Given the description of an element on the screen output the (x, y) to click on. 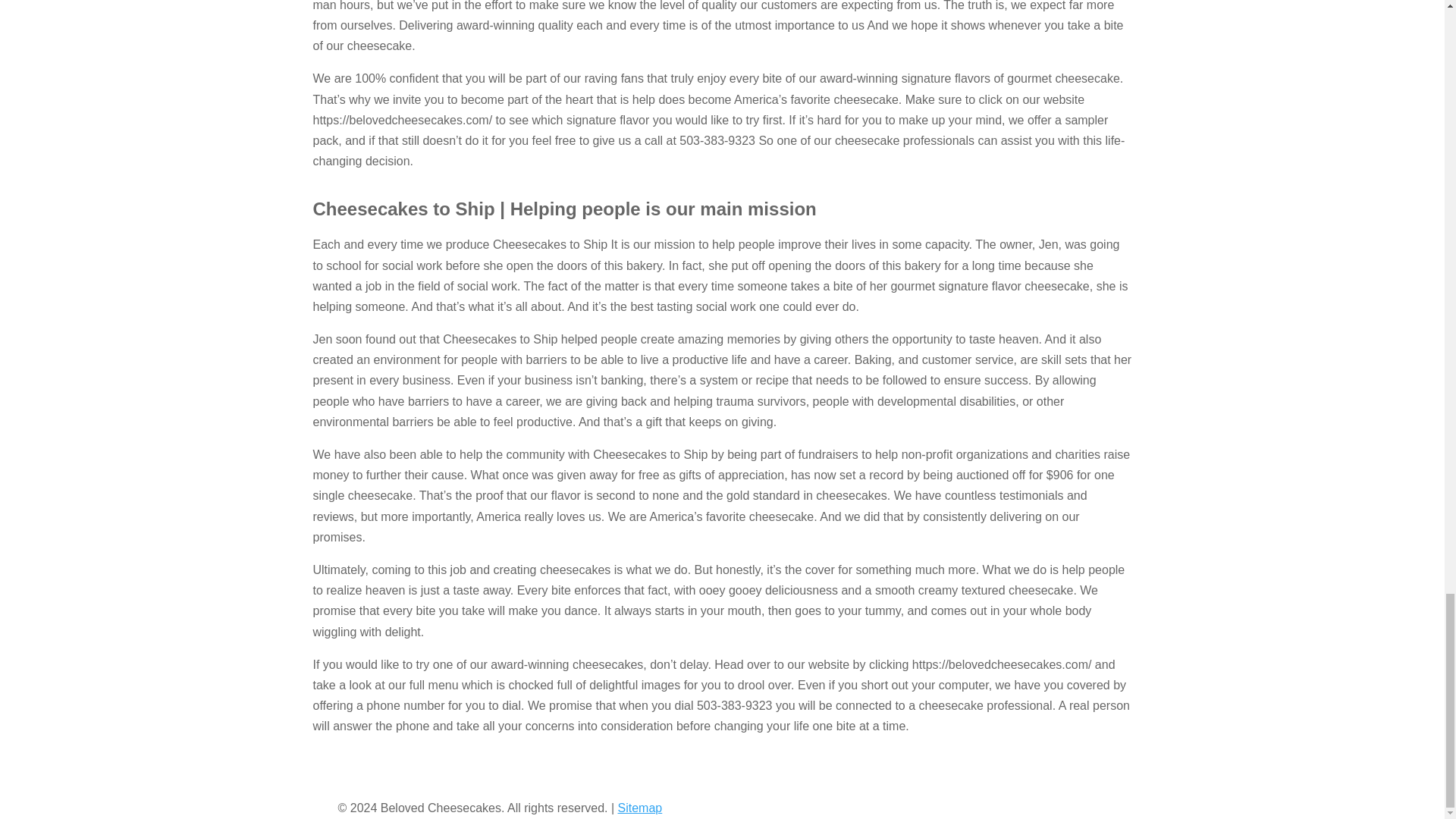
Sitemap (639, 807)
